Given the description of an element on the screen output the (x, y) to click on. 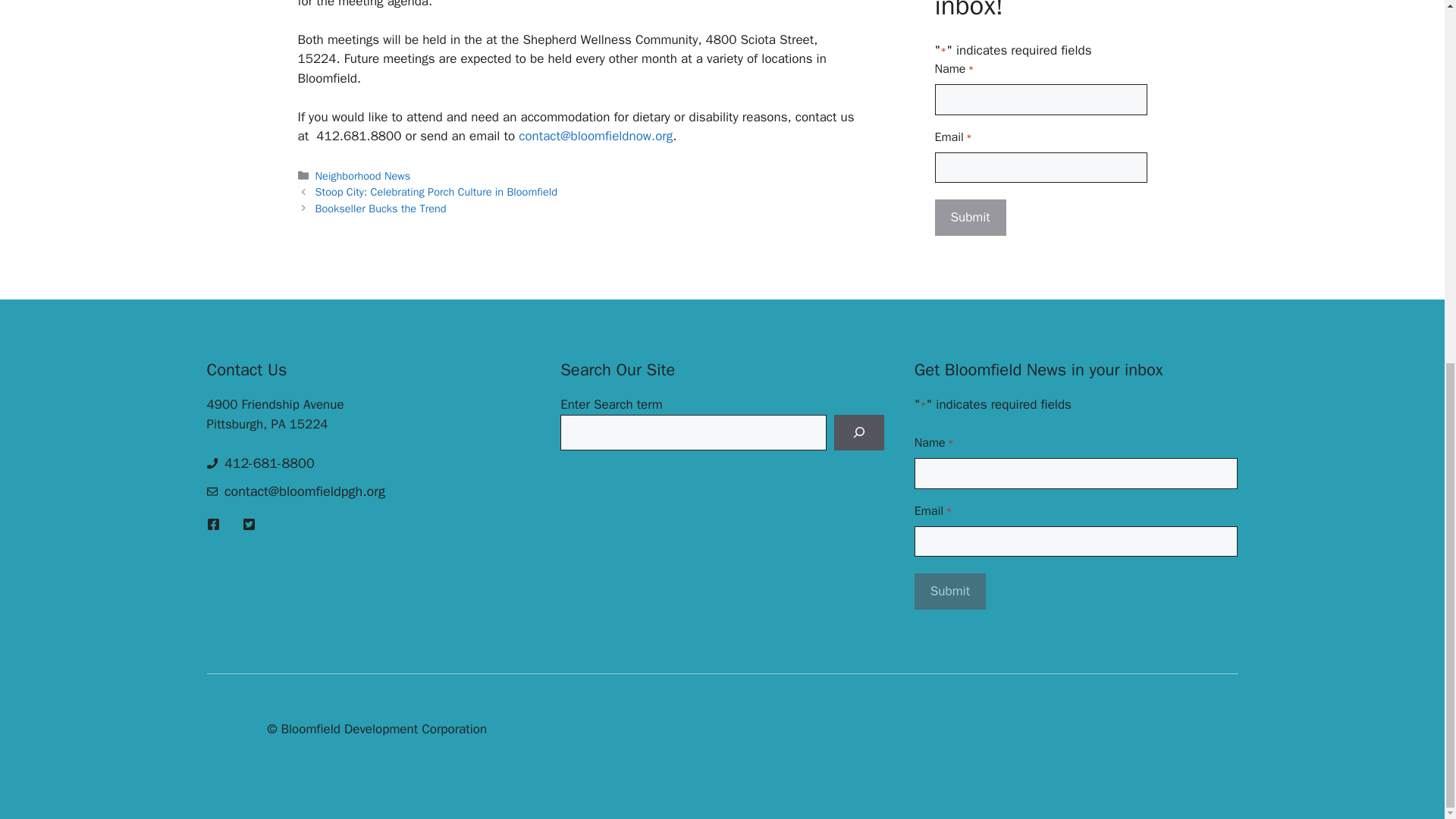
Neighborhood News (362, 175)
Submit (949, 591)
Submit (949, 591)
Stoop City: Celebrating Porch Culture in Bloomfield (436, 192)
Bookseller Bucks the Trend (380, 208)
Submit (970, 217)
Submit (970, 217)
